Given the description of an element on the screen output the (x, y) to click on. 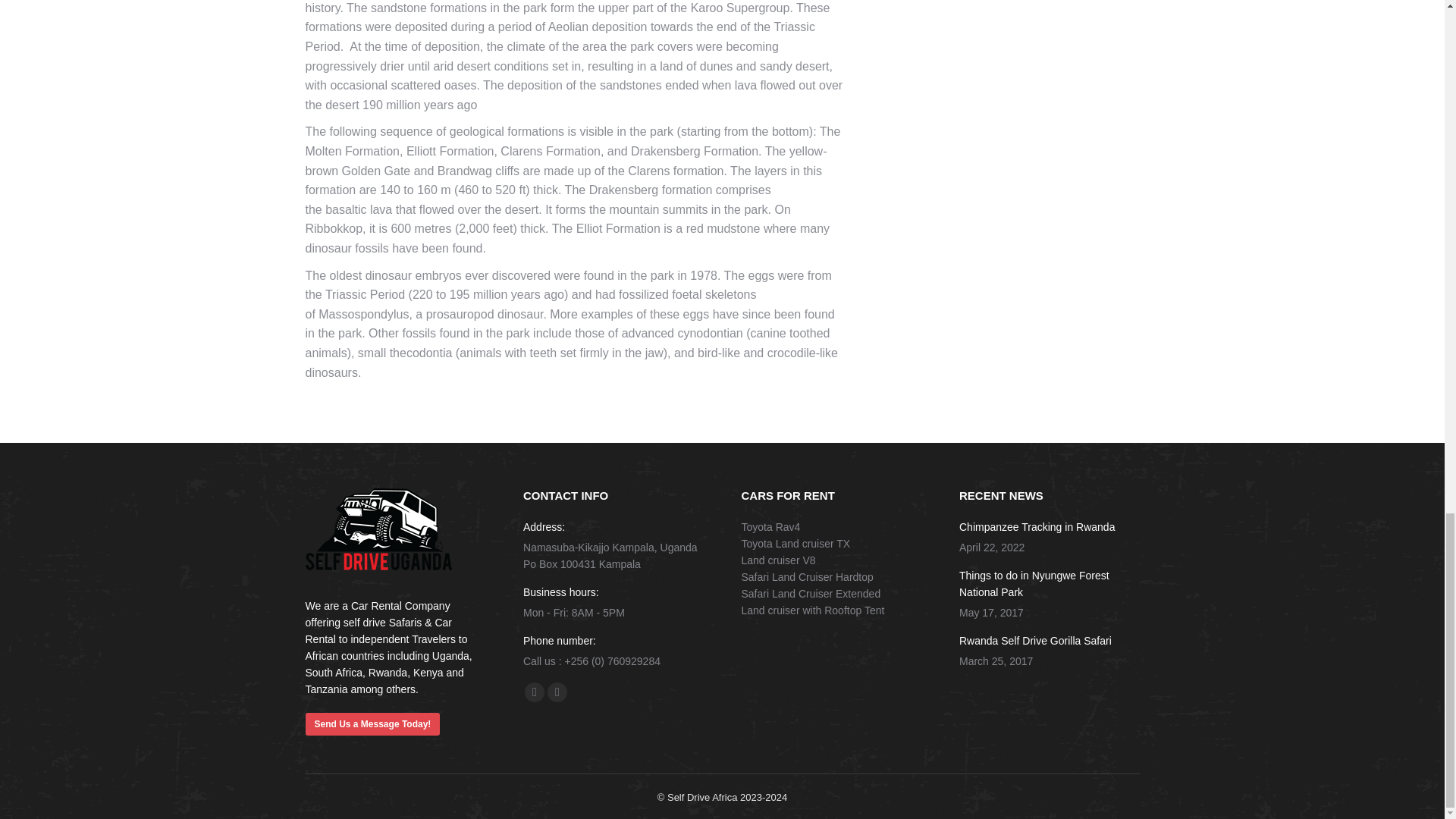
Facebook page opens in new window (534, 691)
Instagram page opens in new window (557, 691)
